Given the description of an element on the screen output the (x, y) to click on. 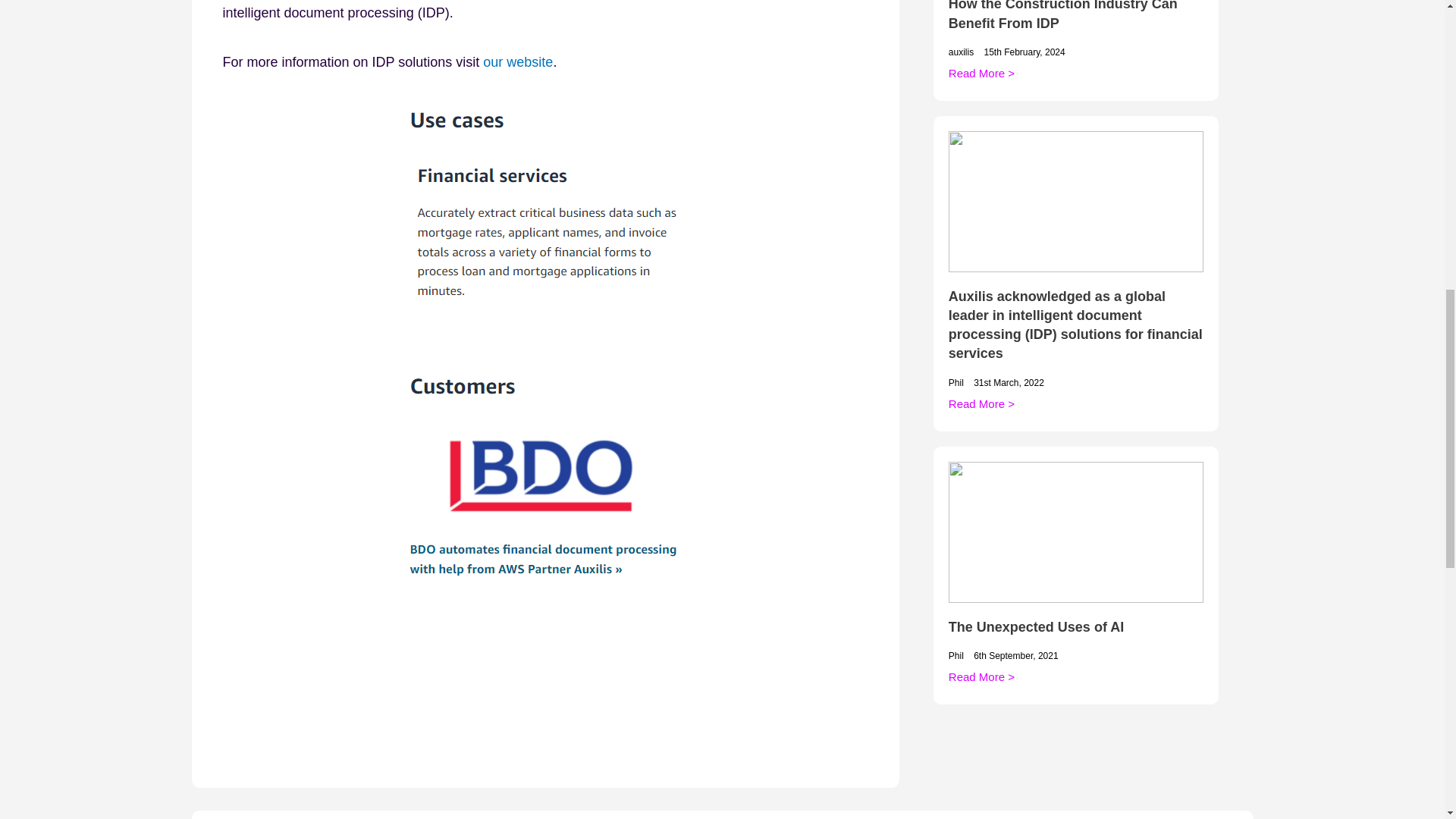
The Unexpected Uses of AI (1036, 626)
How the Construction Industry Can Benefit From IDP (1063, 15)
our website (518, 61)
